Given the description of an element on the screen output the (x, y) to click on. 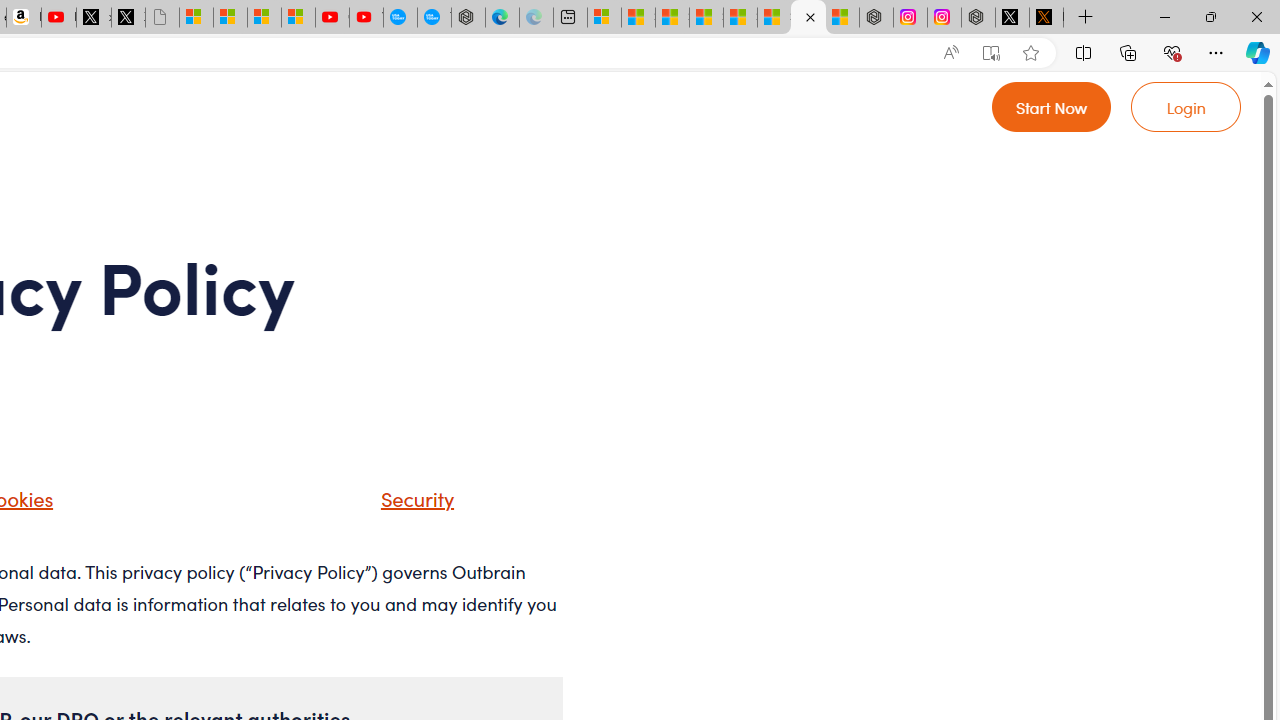
Untitled (162, 17)
Go to Register (1051, 106)
Enter Immersive Reader (F9) (991, 53)
